Given the description of an element on the screen output the (x, y) to click on. 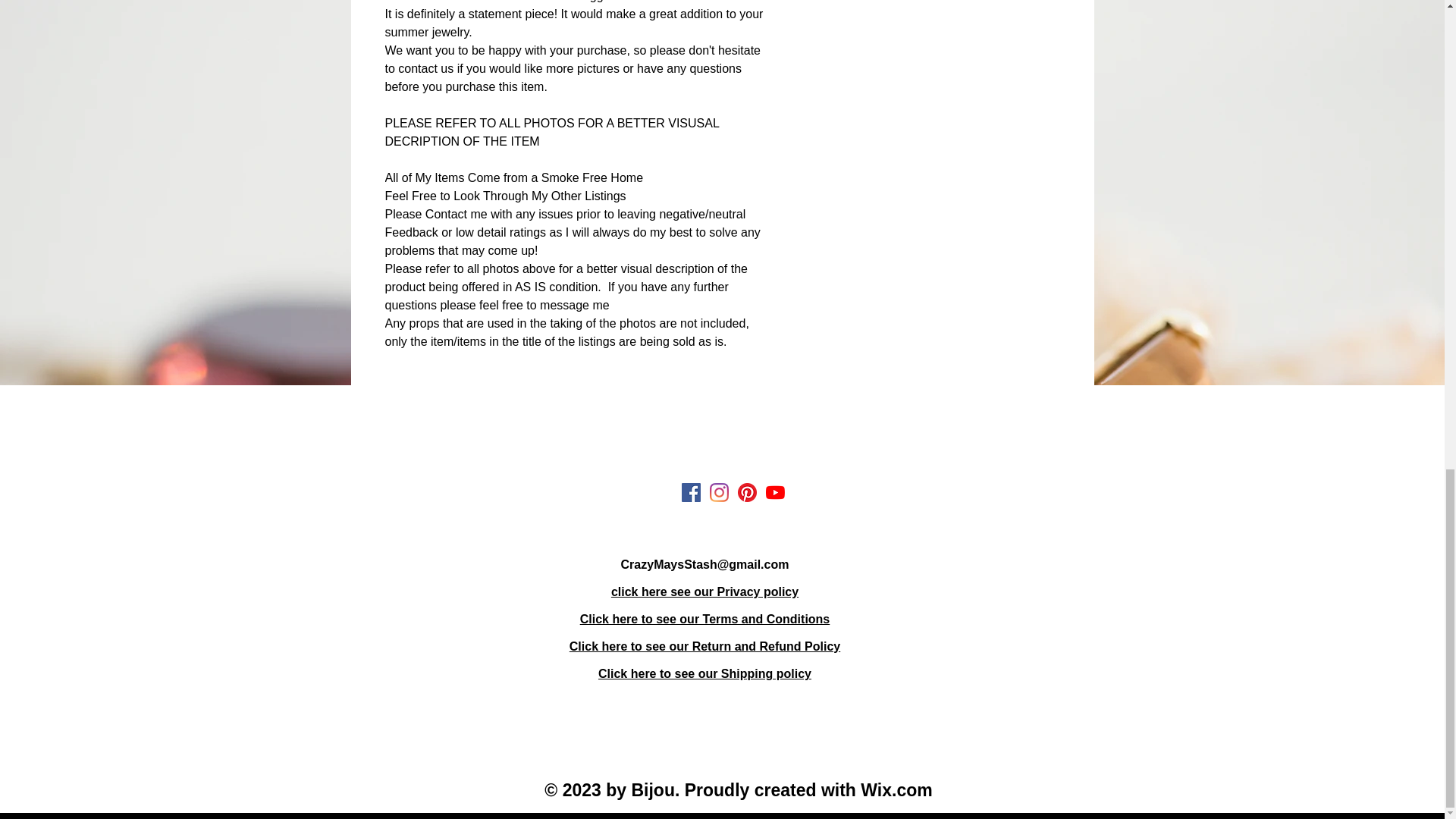
Click here to see our Return and Refund Policy (704, 645)
click here see our Privacy policy (704, 591)
Click here to see our Shipping policy (704, 673)
Click here to see our Terms and Conditions (704, 618)
Wix.com (895, 790)
